Given the description of an element on the screen output the (x, y) to click on. 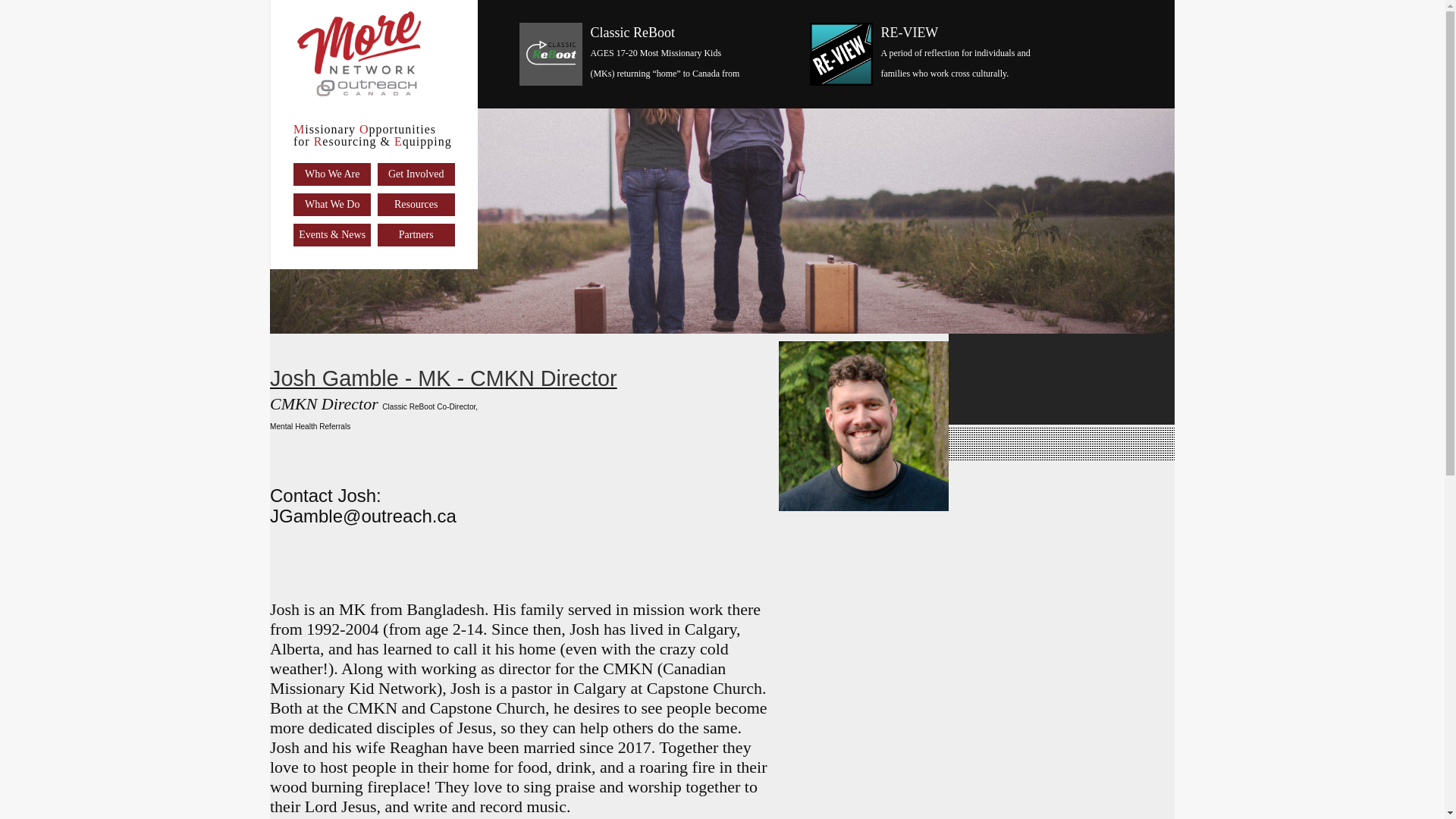
Get Involved (415, 173)
What We Do (332, 204)
Partners (415, 234)
Who We Are (332, 173)
Resources (415, 204)
